Given the description of an element on the screen output the (x, y) to click on. 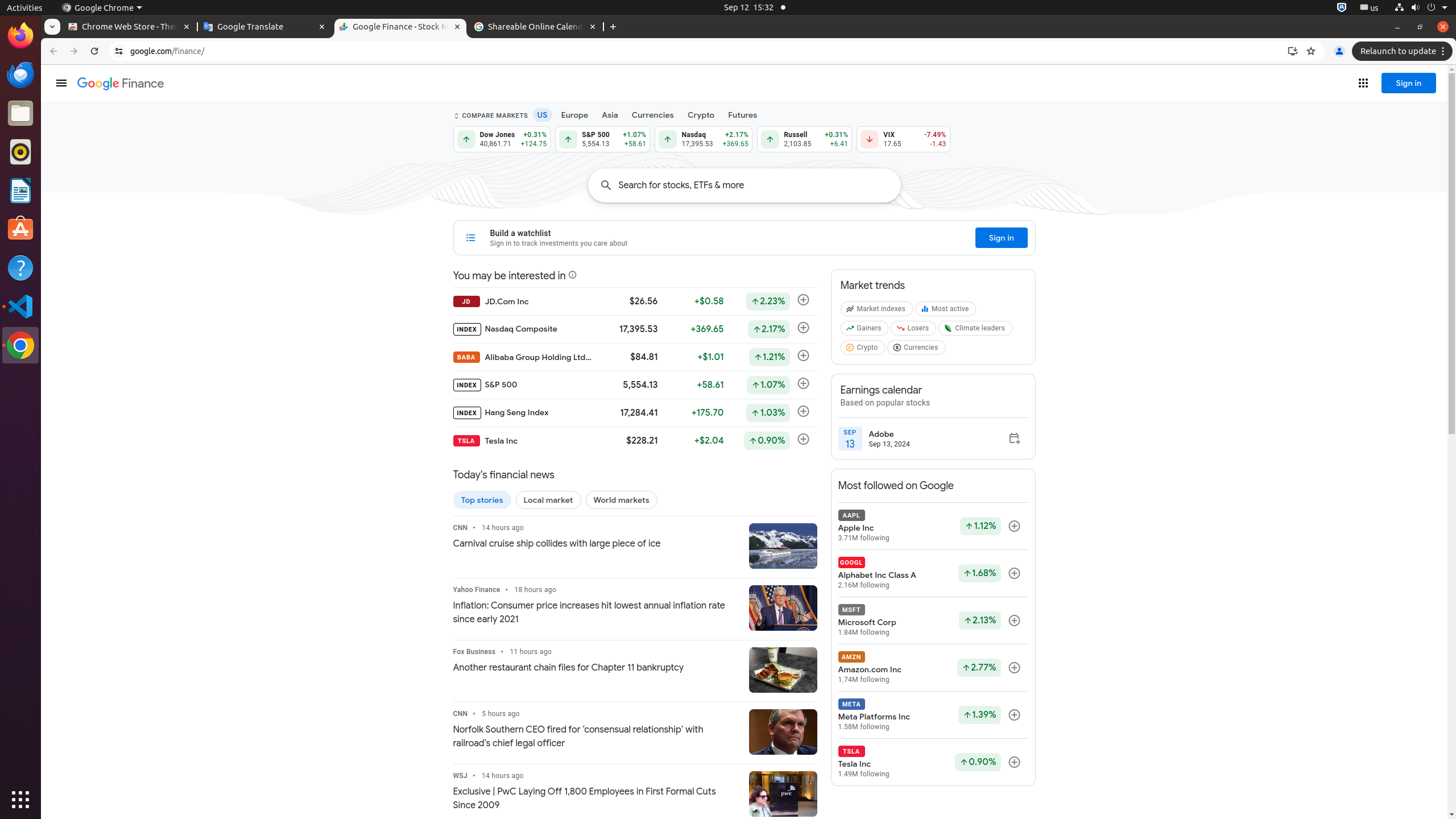
Market indexes Element type: link (877, 310)
Gainers Element type: link (865, 330)
Google Translate - Memory usage - 75.4 MB Element type: page-tab (264, 26)
Rhythmbox Element type: push-button (20, 151)
World markets Element type: page-tab (621, 499)
